Given the description of an element on the screen output the (x, y) to click on. 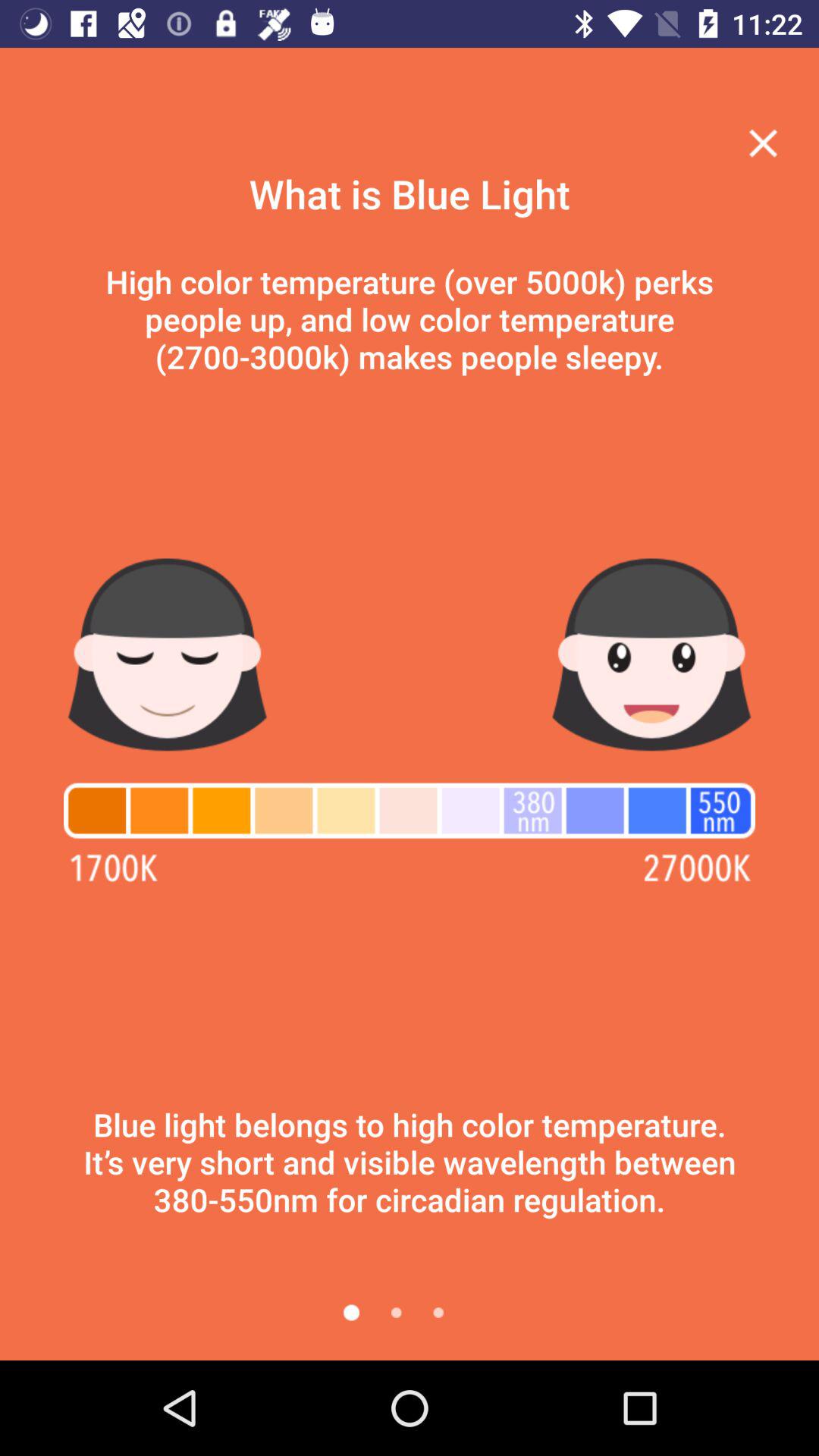
close the menu (763, 143)
